Given the description of an element on the screen output the (x, y) to click on. 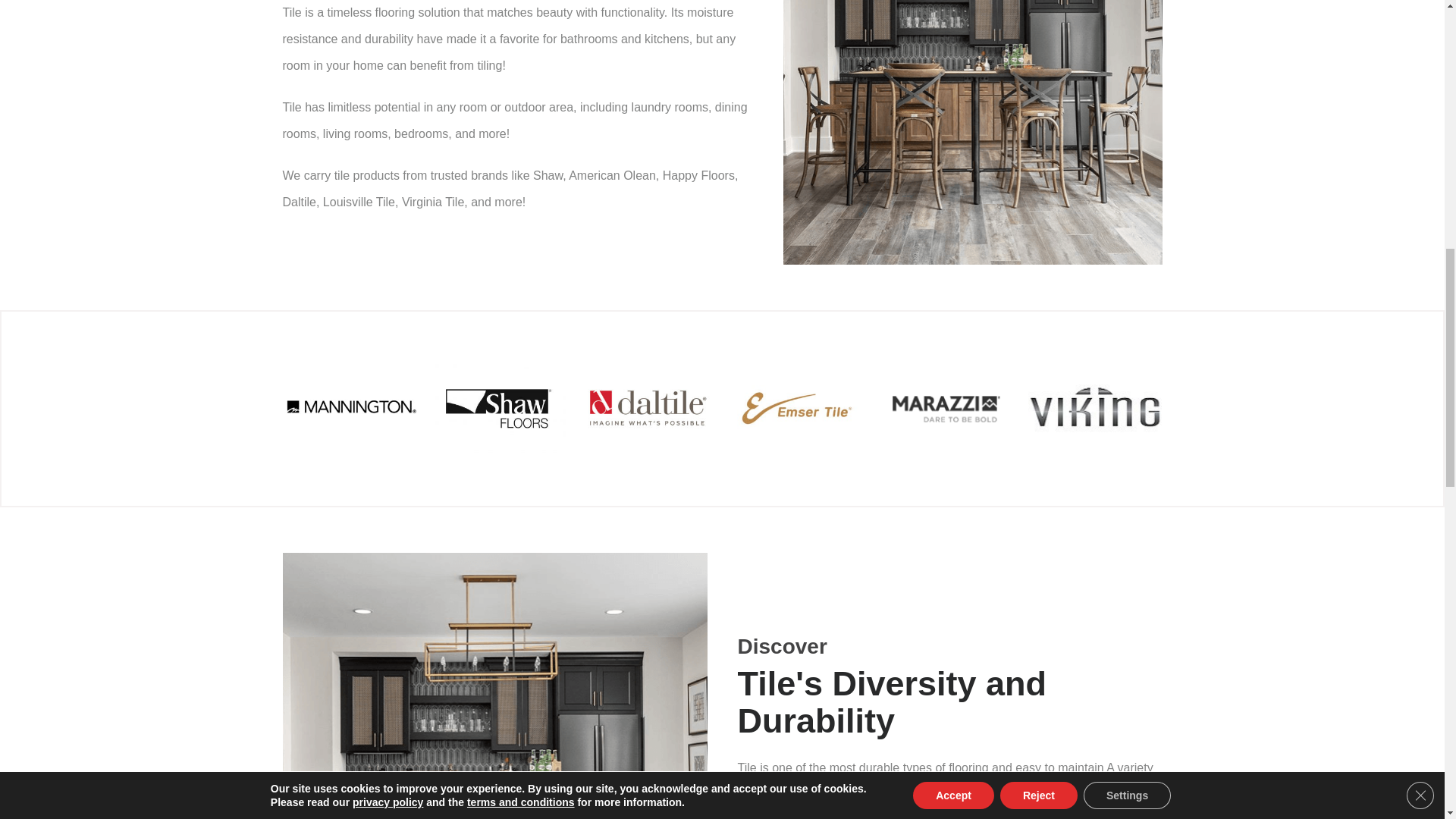
shaw-floors-logo-300x200-2 (498, 408)
Marazzi (946, 408)
